Given the description of an element on the screen output the (x, y) to click on. 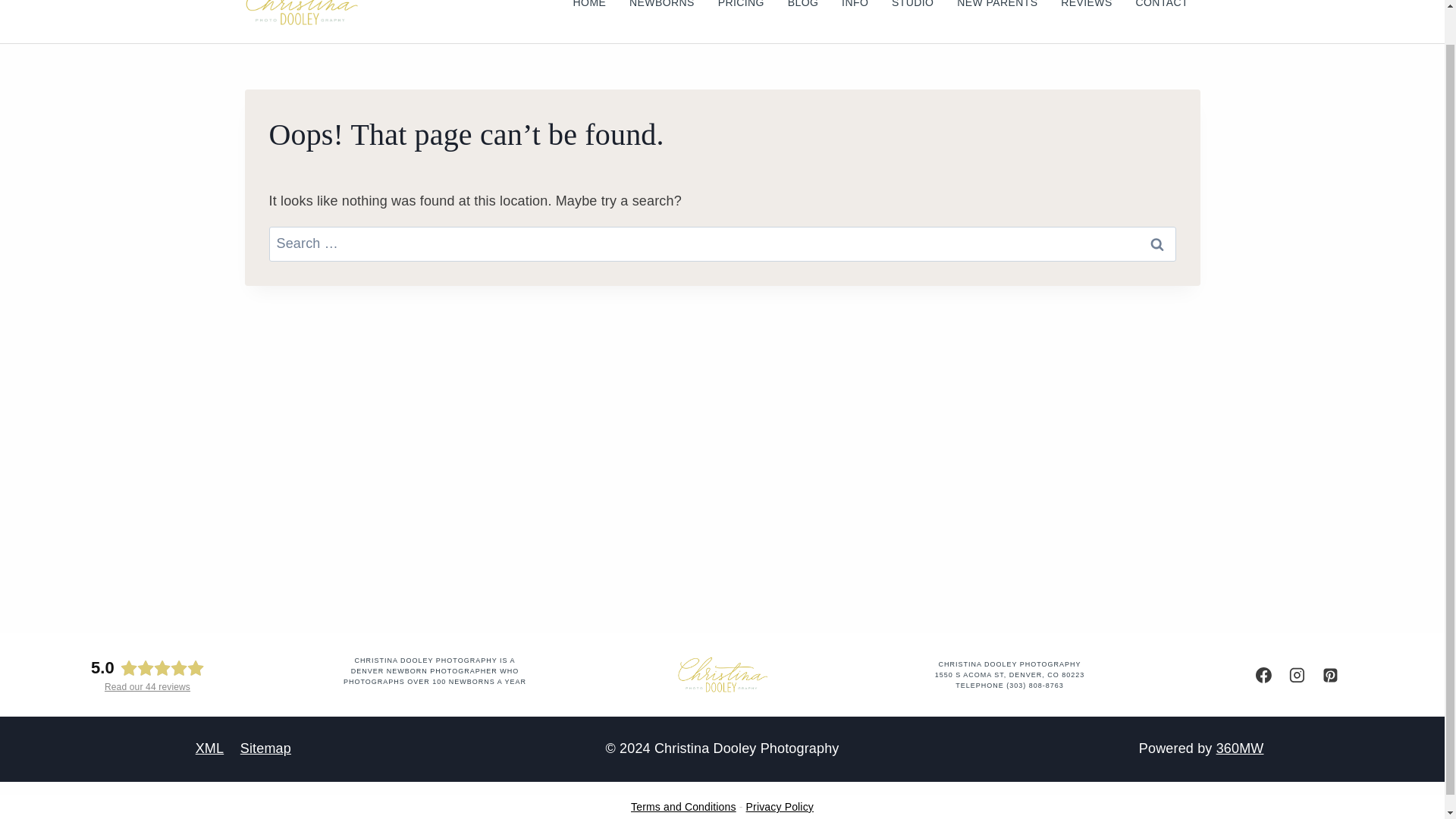
CONTACT (1161, 10)
CHRISTINA DOOLEY PHOTOGRAPHY (1008, 664)
Sitemap (265, 748)
STUDIO (912, 10)
NEW PARENTS (996, 10)
Search (1155, 243)
HOME (588, 10)
PRICING (741, 10)
360MW (1239, 748)
REVIEWS (1086, 10)
